Given the description of an element on the screen output the (x, y) to click on. 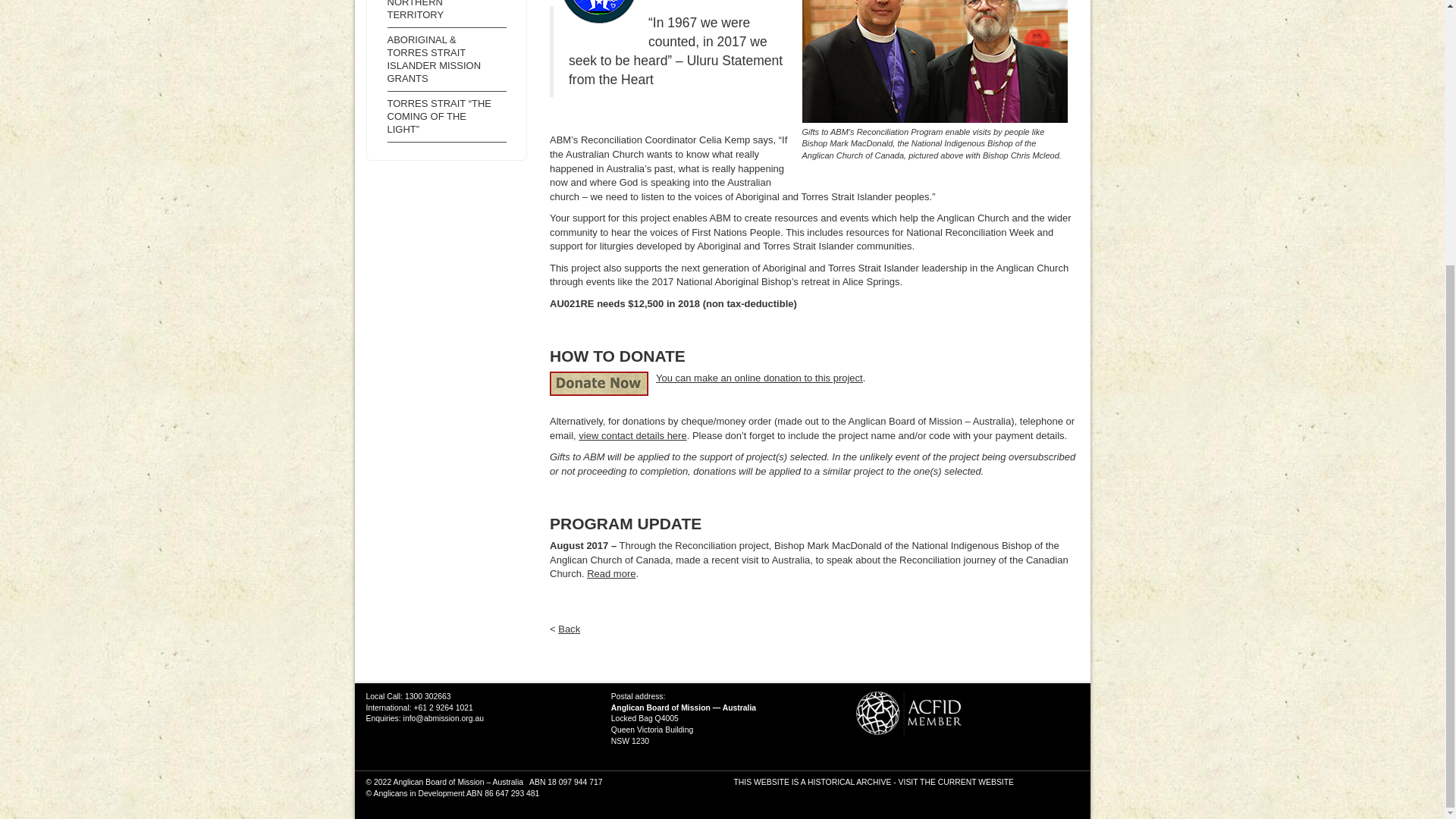
Donate now to this project (598, 383)
VISIT THE CURRENT WEBSITE (955, 782)
Read more (610, 573)
view contact details here (631, 435)
Bac (566, 628)
Reconciliation project (598, 11)
DIOCESE OF THE NORTHERN TERRITORY (446, 12)
You can make an online donation to this project (759, 378)
